Given the description of an element on the screen output the (x, y) to click on. 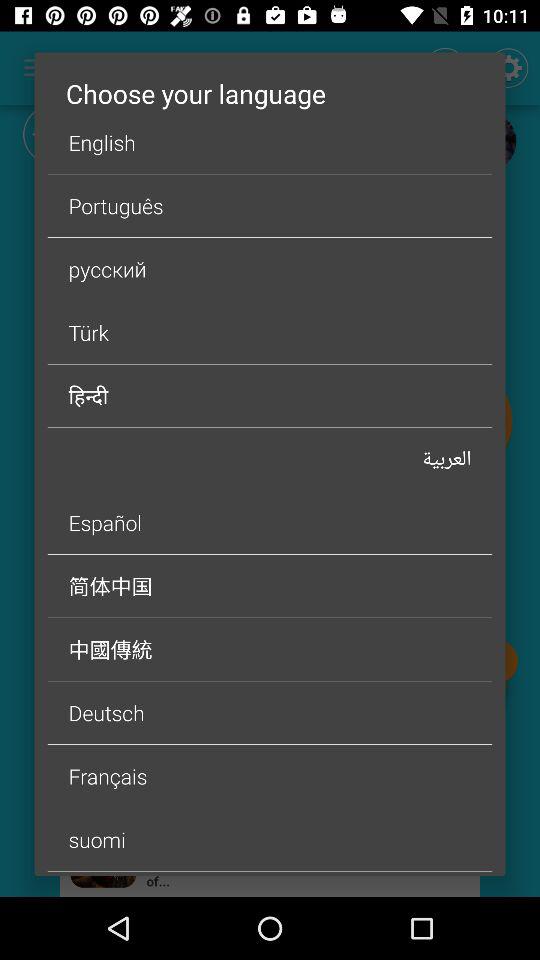
choose icon below suomi (269, 873)
